Given the description of an element on the screen output the (x, y) to click on. 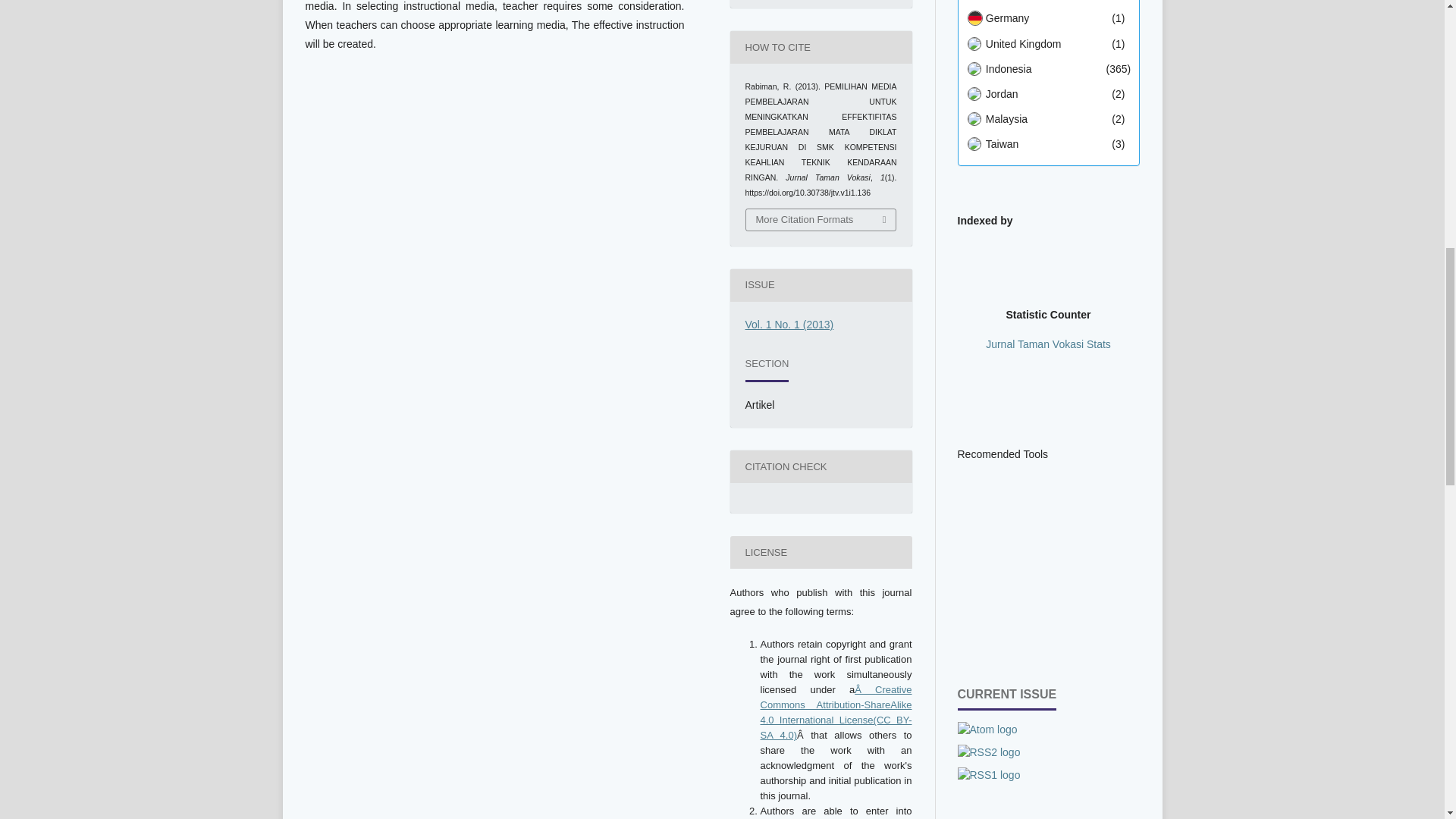
More Citation Formats (820, 219)
